Given the description of an element on the screen output the (x, y) to click on. 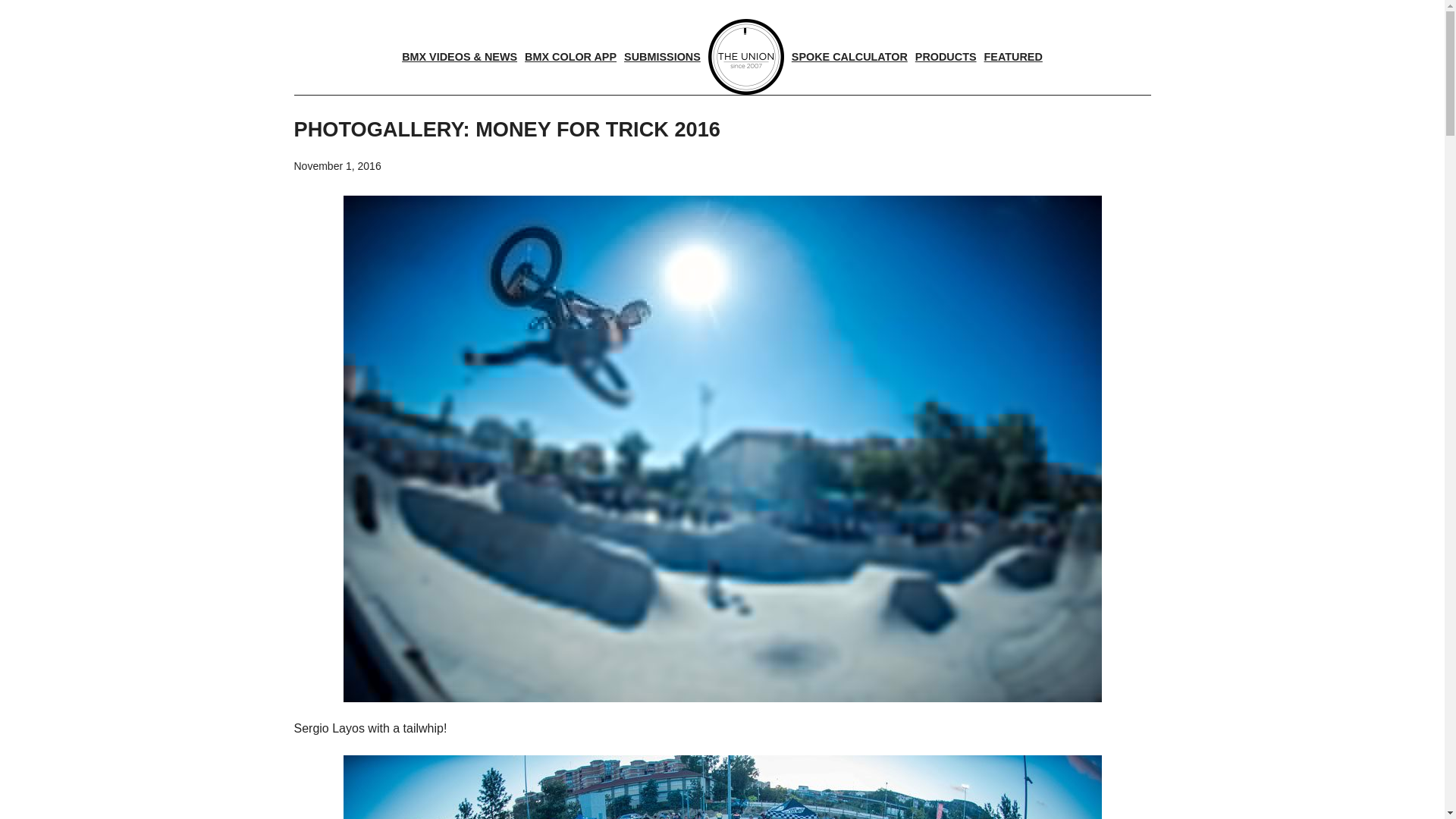
FEATURED (1012, 56)
SPOKE CALCULATOR (849, 56)
SUBMISSIONS (662, 56)
PRODUCTS (945, 56)
BMX COLOR APP (570, 56)
